Given the description of an element on the screen output the (x, y) to click on. 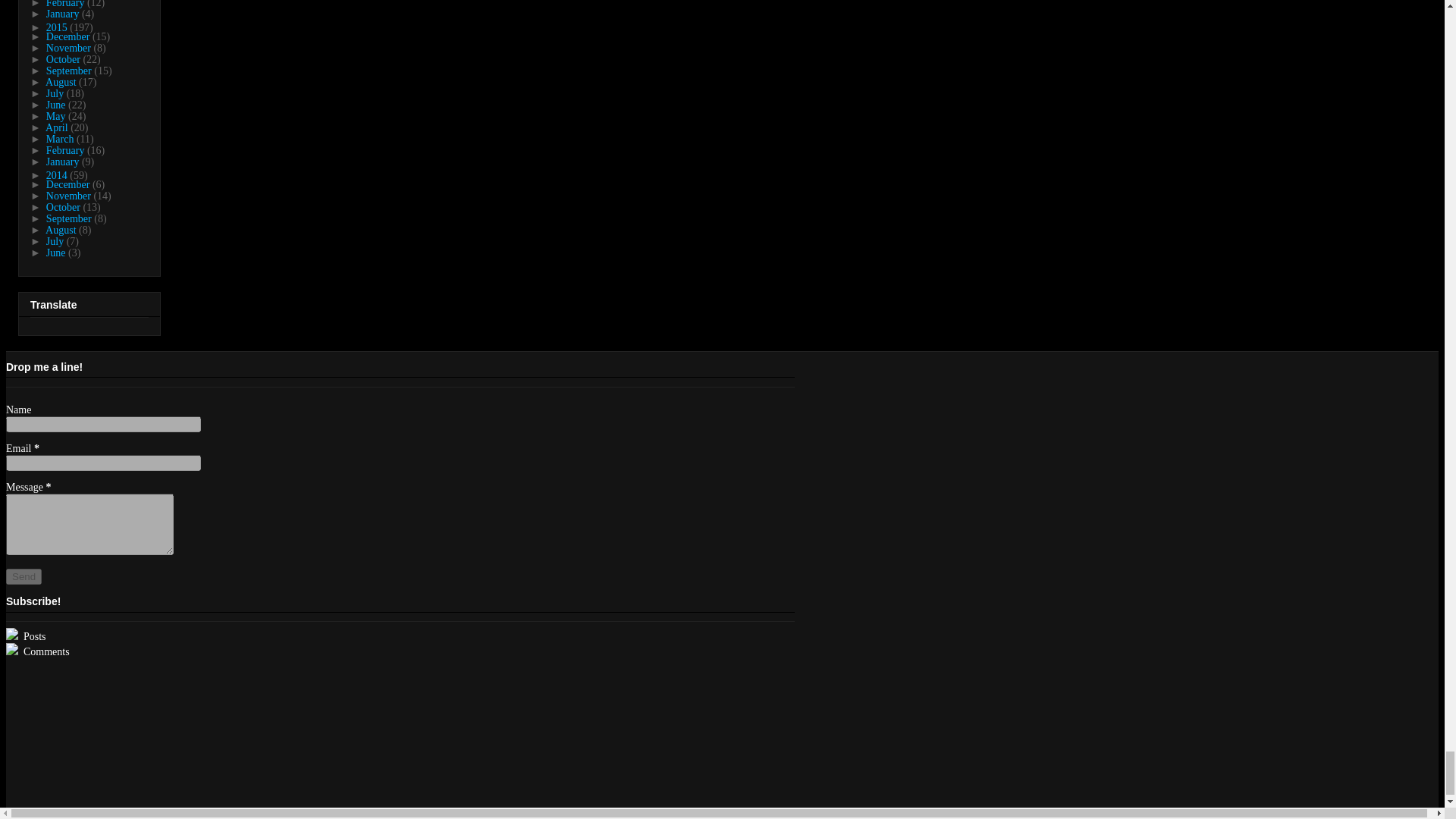
Send (23, 576)
